Given the description of an element on the screen output the (x, y) to click on. 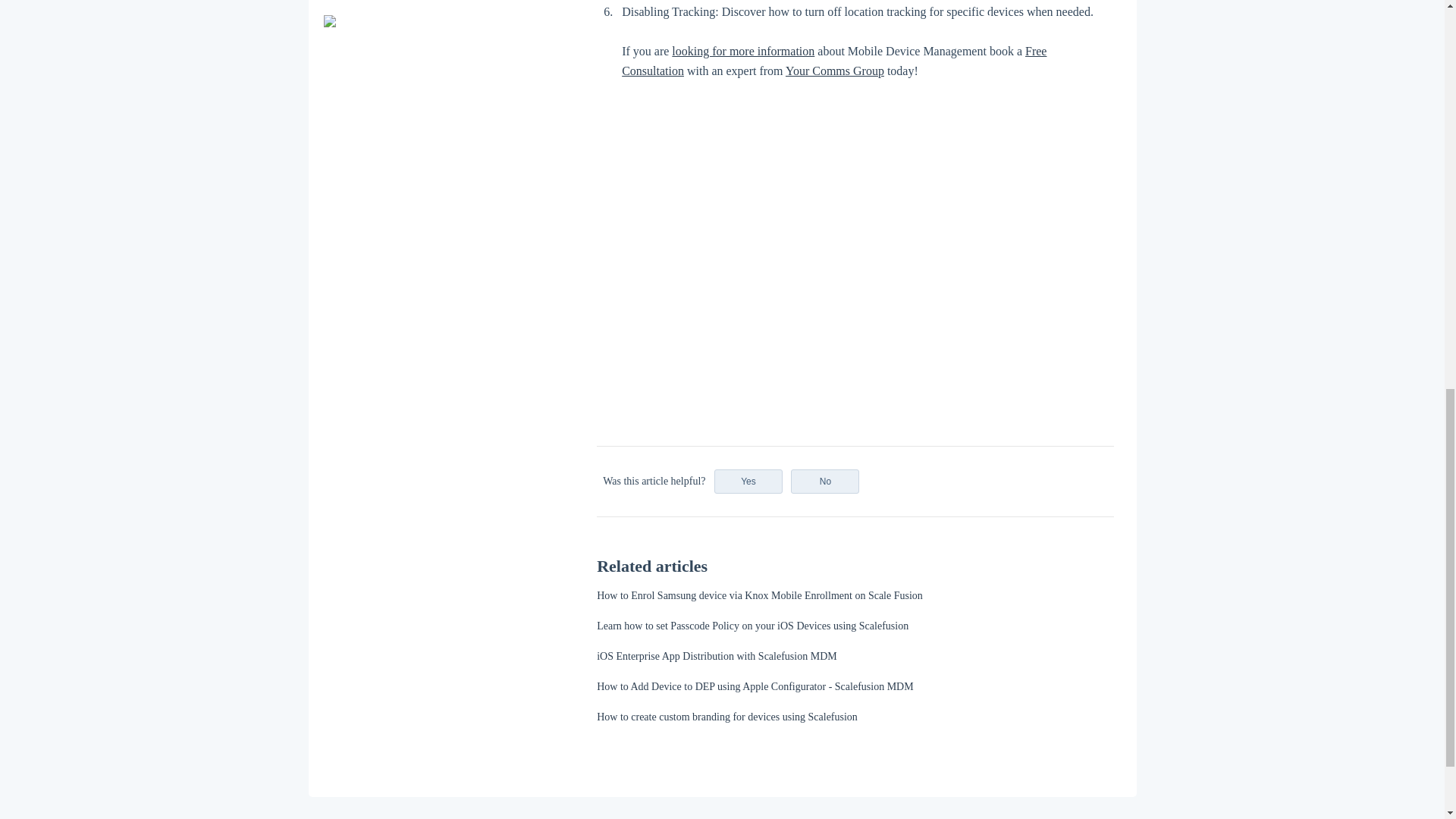
Free Consultation (833, 60)
No (824, 481)
iOS Enterprise App Distribution with Scalefusion MDM (716, 655)
Your Comms Group (834, 70)
looking for more information (742, 51)
How to create custom branding for devices using Scalefusion (726, 716)
Yes (748, 481)
